Given the description of an element on the screen output the (x, y) to click on. 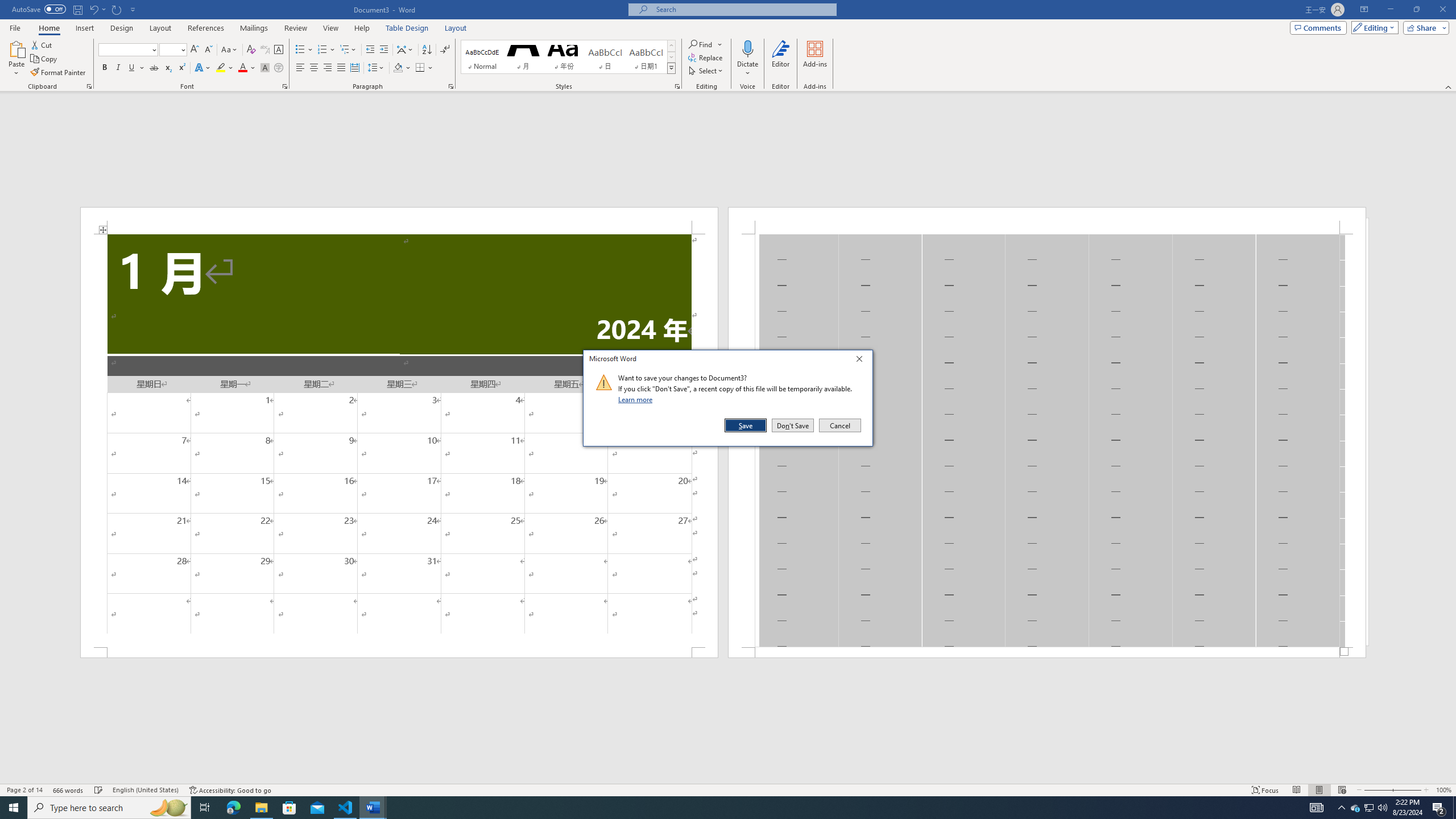
Text Highlight Color Yellow (220, 67)
Microsoft search (742, 9)
Class: MsoCommandBar (728, 789)
Q2790: 100% (1382, 807)
Task View (204, 807)
Sort... (426, 49)
Select (705, 69)
Align Right (327, 67)
Character Shading (1368, 807)
